Given the description of an element on the screen output the (x, y) to click on. 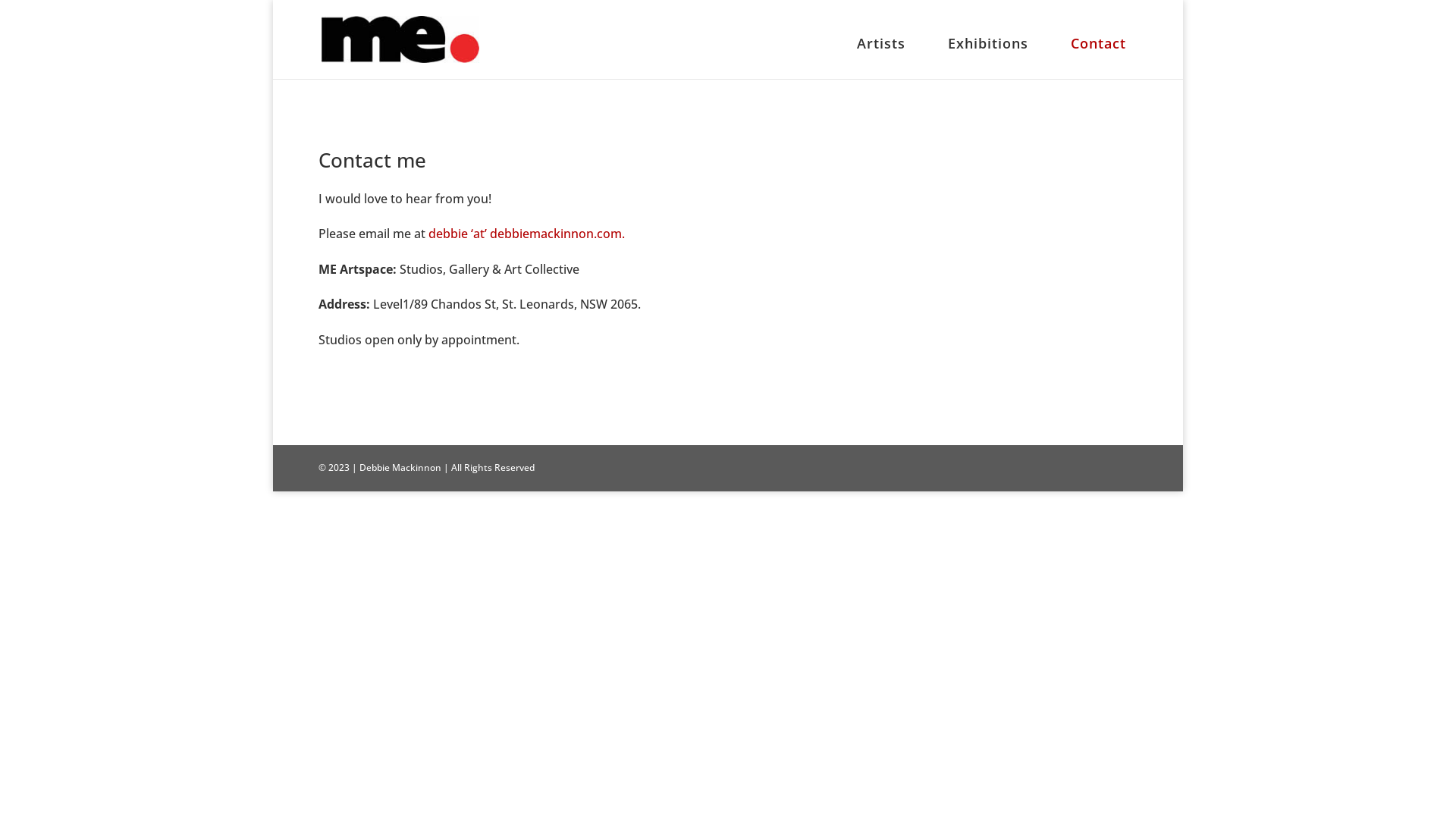
Contact Element type: text (1098, 54)
Artists Element type: text (880, 54)
Exhibitions Element type: text (987, 54)
